Given the description of an element on the screen output the (x, y) to click on. 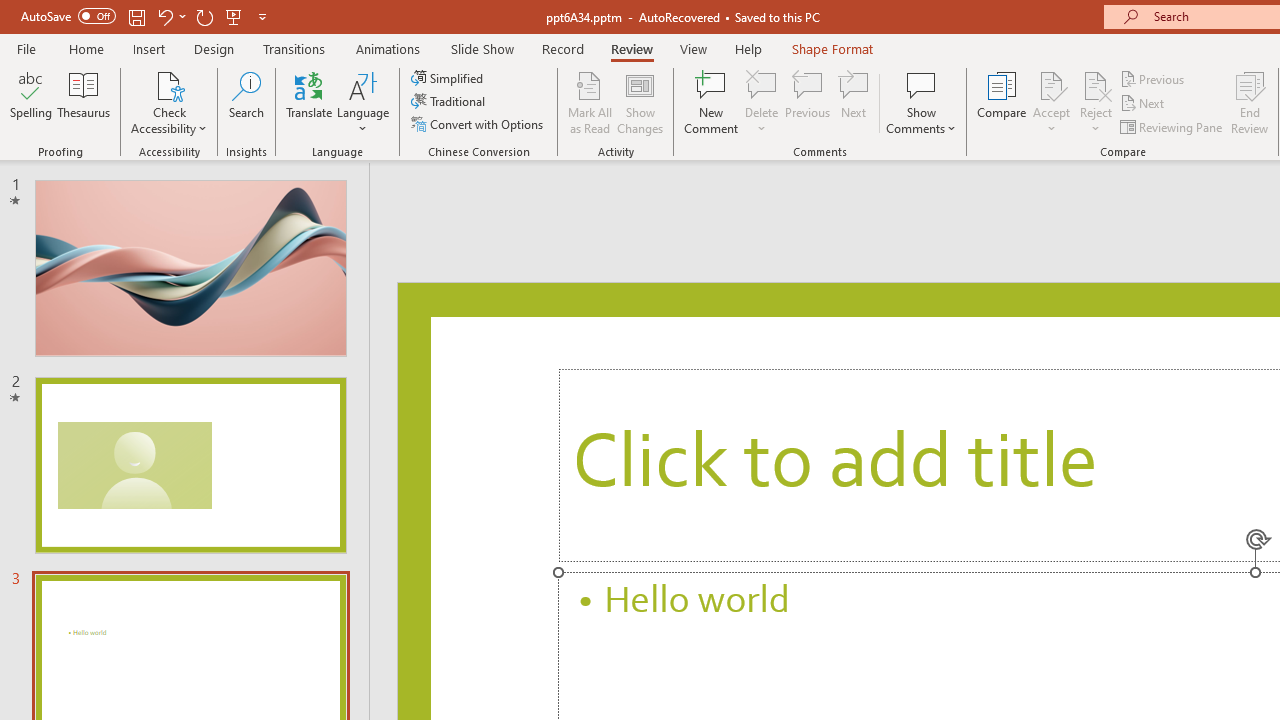
Language (363, 102)
Next (1144, 103)
Convert with Options... (479, 124)
New Comment (711, 102)
End Review (1249, 102)
Reviewing Pane (1172, 126)
